Given the description of an element on the screen output the (x, y) to click on. 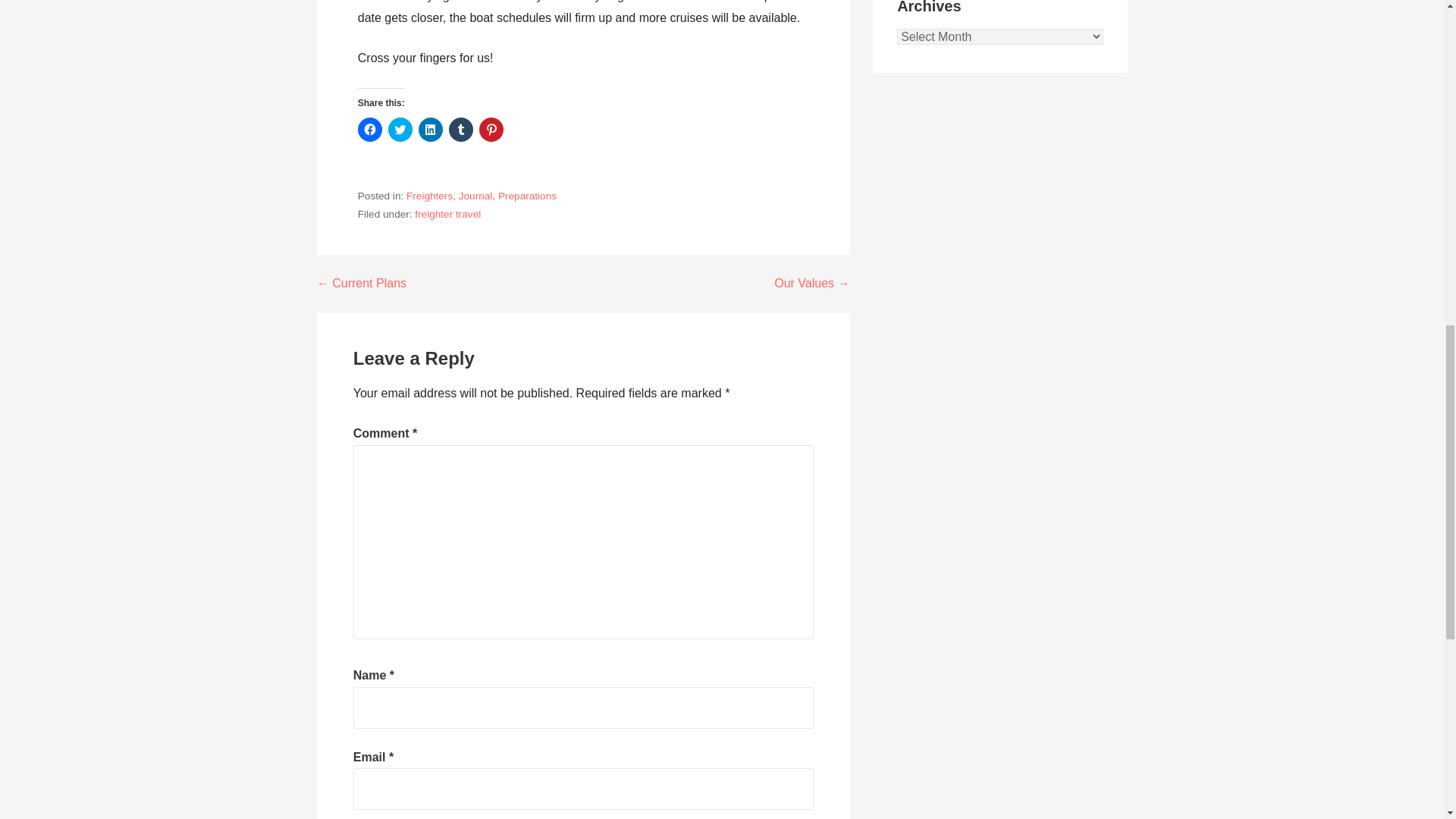
Click to share on Tumblr (460, 129)
Click to share on Twitter (400, 129)
Journal (475, 195)
Click to share on Facebook (369, 129)
Preparations (526, 195)
Freighters (429, 195)
Click to share on LinkedIn (430, 129)
freighter travel (447, 214)
Click to share on Pinterest (491, 129)
